Given the description of an element on the screen output the (x, y) to click on. 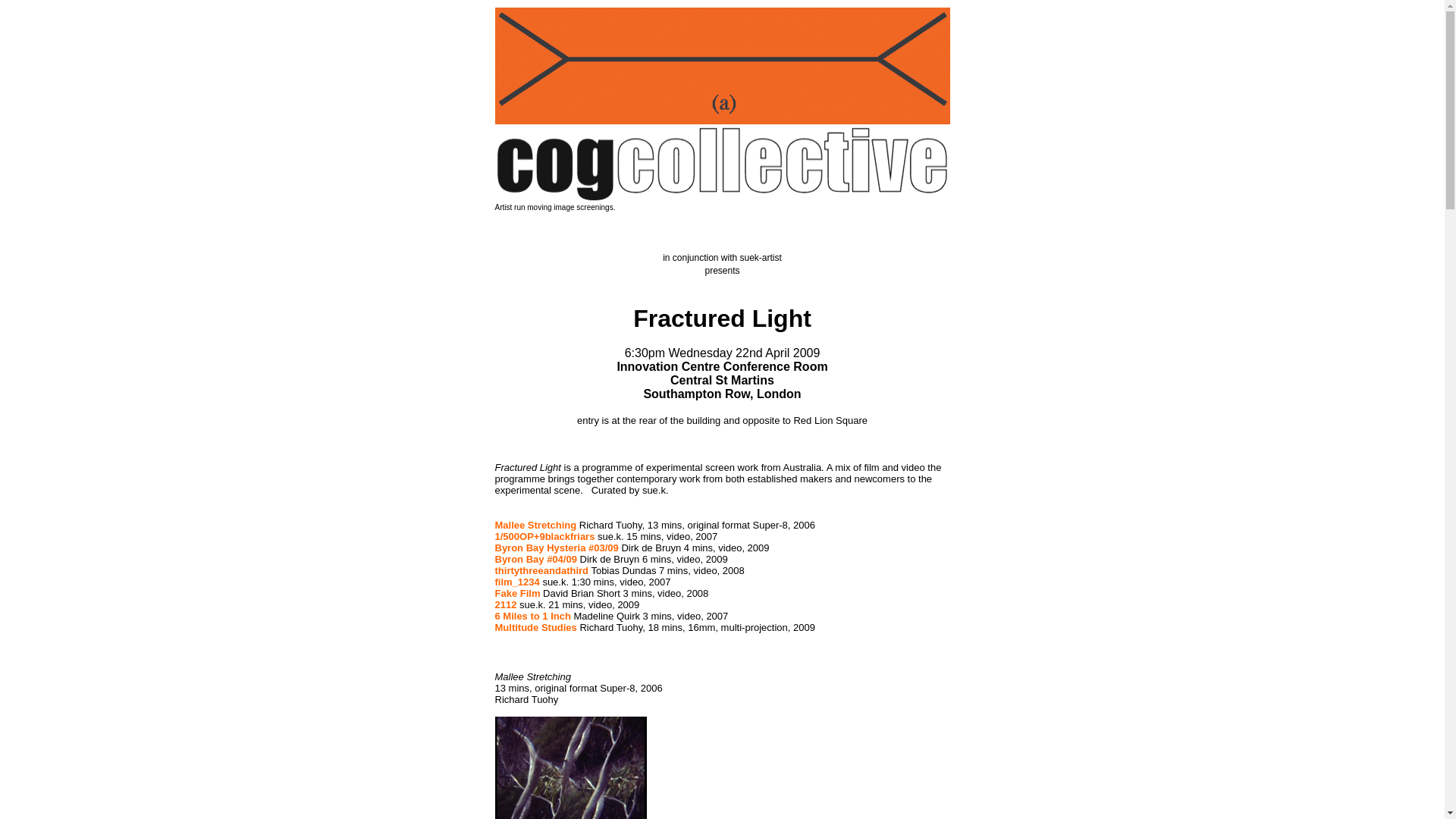
2112 (505, 604)
Multitude Studies (535, 627)
thirtythreeandathird (541, 570)
6 Miles to 1 Inch (532, 615)
Mallee Stretching (535, 524)
Fake Film (517, 593)
